Given the description of an element on the screen output the (x, y) to click on. 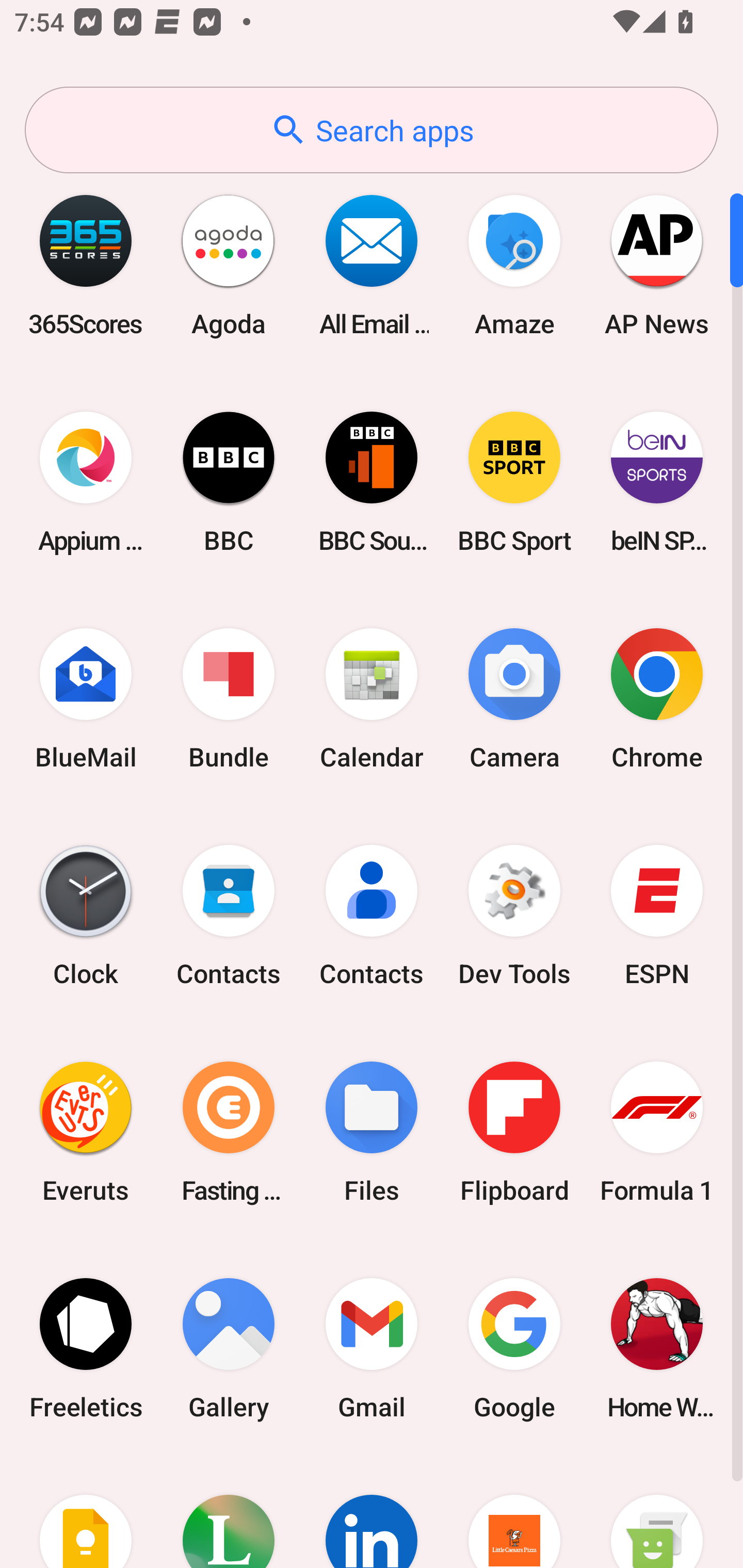
  Search apps (371, 130)
365Scores (85, 264)
Agoda (228, 264)
All Email Connect (371, 264)
Amaze (514, 264)
AP News (656, 264)
Appium Settings (85, 482)
BBC (228, 482)
BBC Sounds (371, 482)
BBC Sport (514, 482)
beIN SPORTS (656, 482)
BlueMail (85, 699)
Bundle (228, 699)
Calendar (371, 699)
Camera (514, 699)
Chrome (656, 699)
Clock (85, 915)
Contacts (228, 915)
Contacts (371, 915)
Dev Tools (514, 915)
ESPN (656, 915)
Everuts (85, 1131)
Fasting Coach (228, 1131)
Files (371, 1131)
Flipboard (514, 1131)
Formula 1 (656, 1131)
Freeletics (85, 1348)
Gallery (228, 1348)
Gmail (371, 1348)
Google (514, 1348)
Home Workout (656, 1348)
Keep Notes (85, 1512)
Lifesum (228, 1512)
LinkedIn (371, 1512)
Little Caesars Pizza (514, 1512)
Messaging (656, 1512)
